Given the description of an element on the screen output the (x, y) to click on. 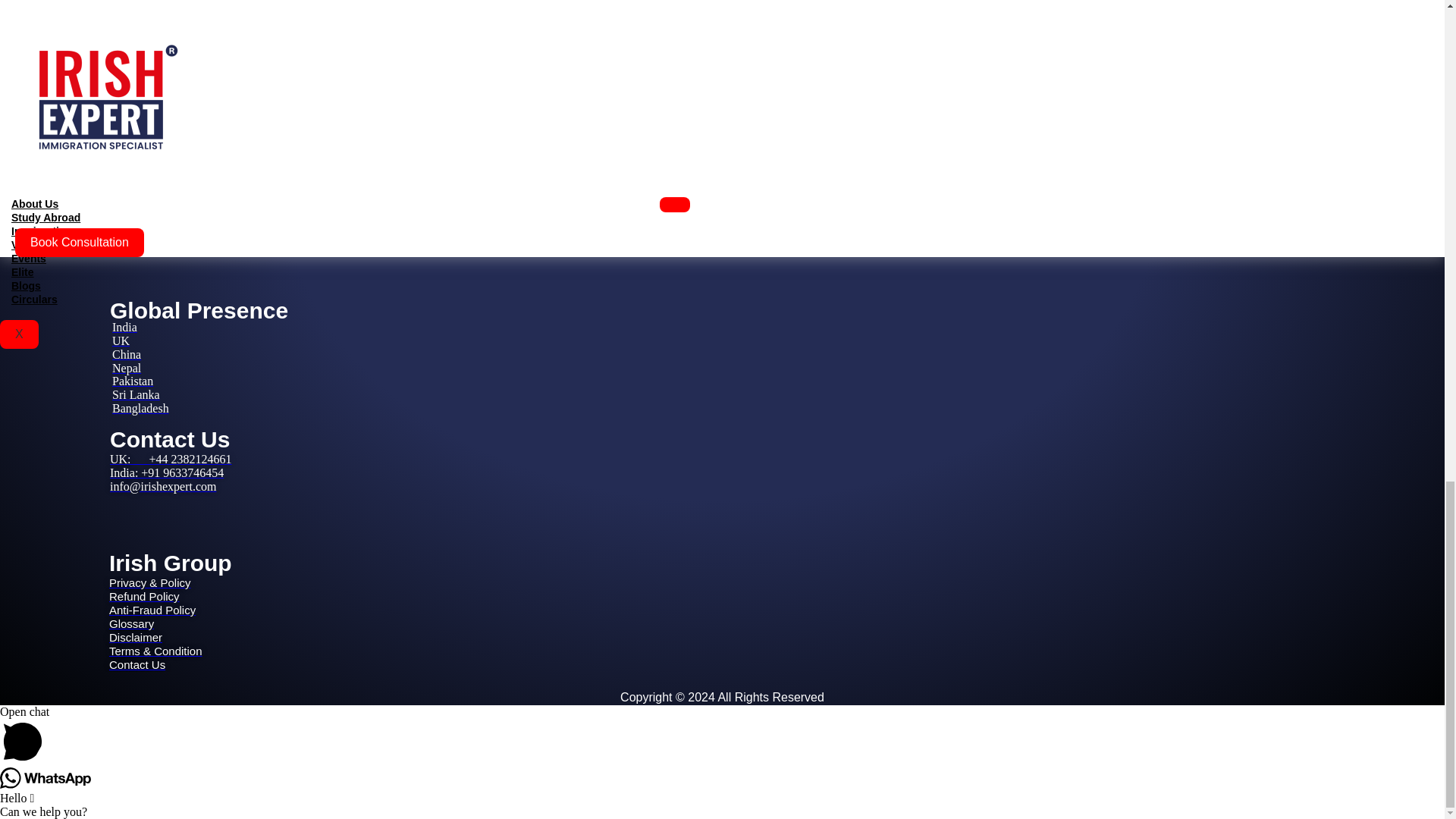
Thrissur MG (108, 204)
Nepal (126, 367)
Kochi (91, 190)
Chennai (96, 160)
Pakistan (132, 380)
Hyderabad (103, 174)
Sri Lanka (136, 394)
China (126, 354)
Mumbai (97, 133)
WhatsApp (45, 777)
Delhi (90, 119)
UK (120, 340)
India (124, 327)
Bangalore (101, 146)
Bangladesh (140, 408)
